Given the description of an element on the screen output the (x, y) to click on. 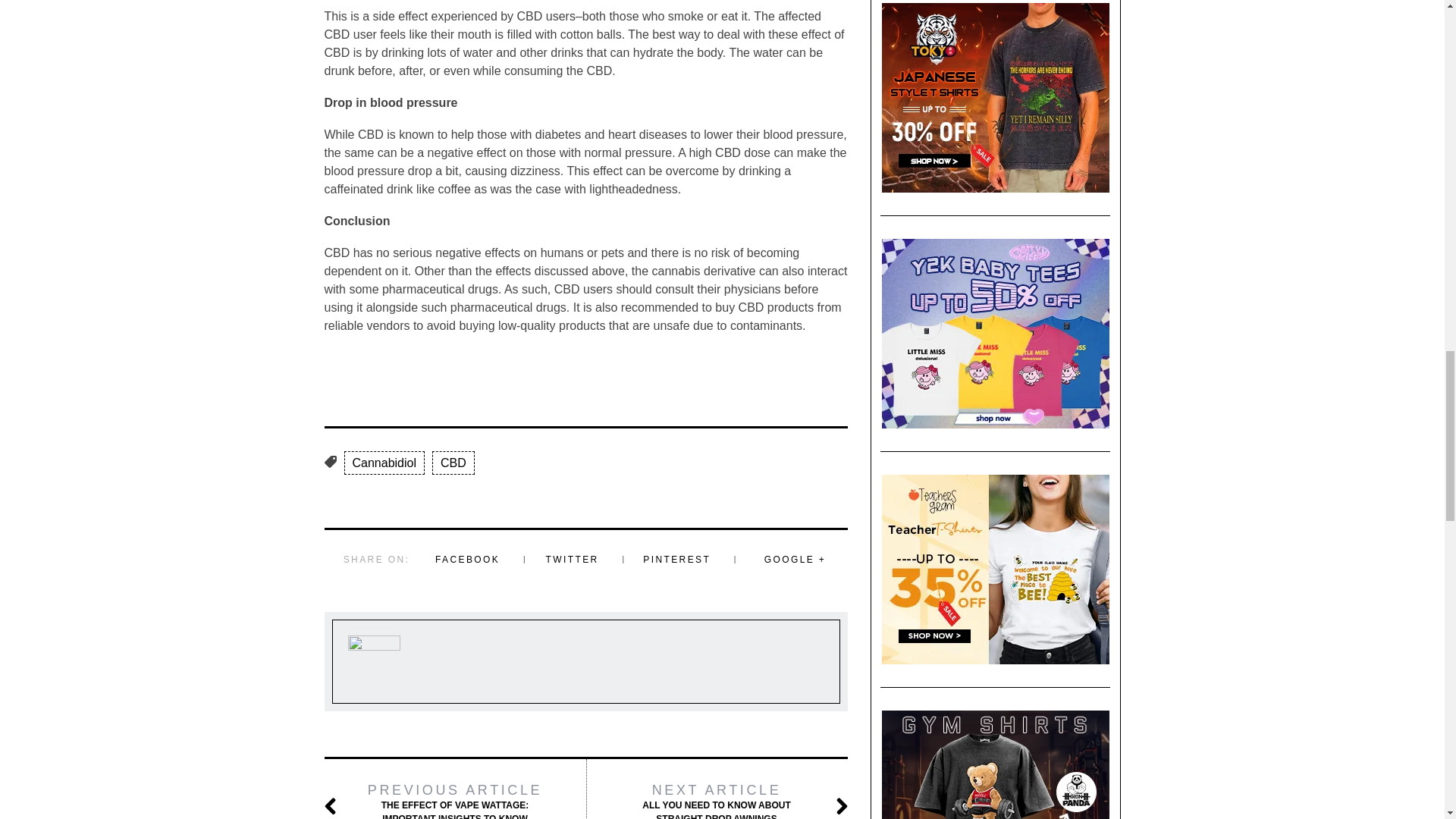
gym shirts (994, 764)
baby tees (994, 333)
teacher shirt (994, 569)
Japanese t shirts (994, 97)
